Given the description of an element on the screen output the (x, y) to click on. 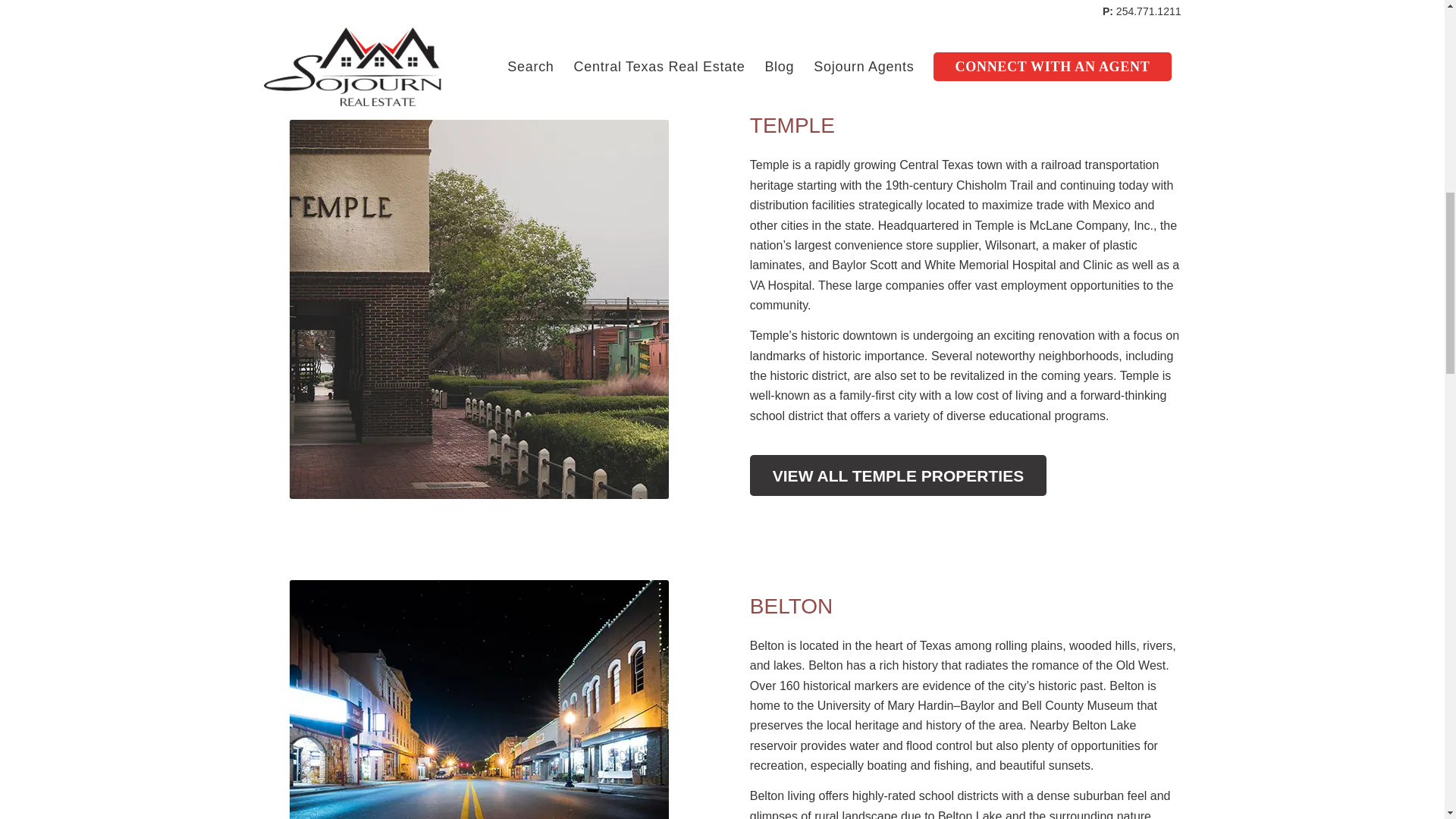
belton-community (478, 699)
VIEW ALL TEMPLE PROPERTIES (897, 475)
